Given the description of an element on the screen output the (x, y) to click on. 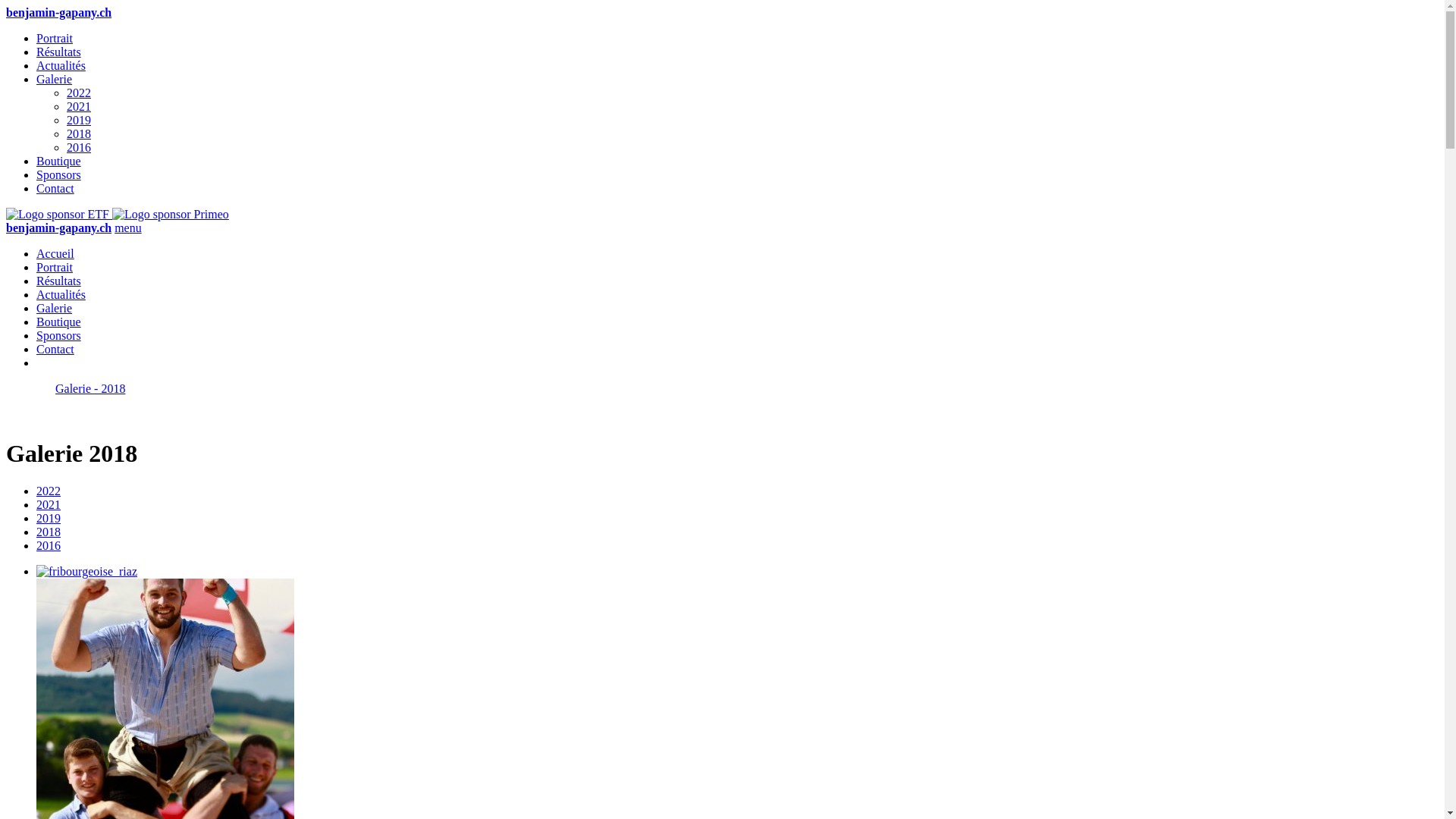
Boutique Element type: text (58, 160)
2016 Element type: text (48, 545)
2019 Element type: text (48, 517)
menu Element type: text (127, 227)
Portrait Element type: text (54, 37)
2021 Element type: text (48, 504)
Galerie
-2022
-2021
-2019
-2018
-2016
Galerie - 2018 Element type: text (65, 388)
Galerie Element type: text (54, 78)
Sponsors Element type: text (58, 174)
Accueil Element type: text (55, 253)
Galerie Element type: text (54, 307)
Contact Element type: text (55, 188)
2022 Element type: text (78, 92)
benjamin-gapany.ch Element type: text (58, 227)
2022 Element type: text (48, 490)
2016 Element type: text (78, 147)
benjamin-gapany.ch Element type: text (58, 12)
Sponsors Element type: text (58, 335)
fribourgeoise_riaz Element type: hover (86, 571)
2018 Element type: text (48, 531)
Contact Element type: text (55, 348)
Boutique Element type: text (58, 321)
Portrait Element type: text (54, 266)
2018 Element type: text (78, 133)
2021 Element type: text (78, 106)
2019 Element type: text (78, 119)
